Given the description of an element on the screen output the (x, y) to click on. 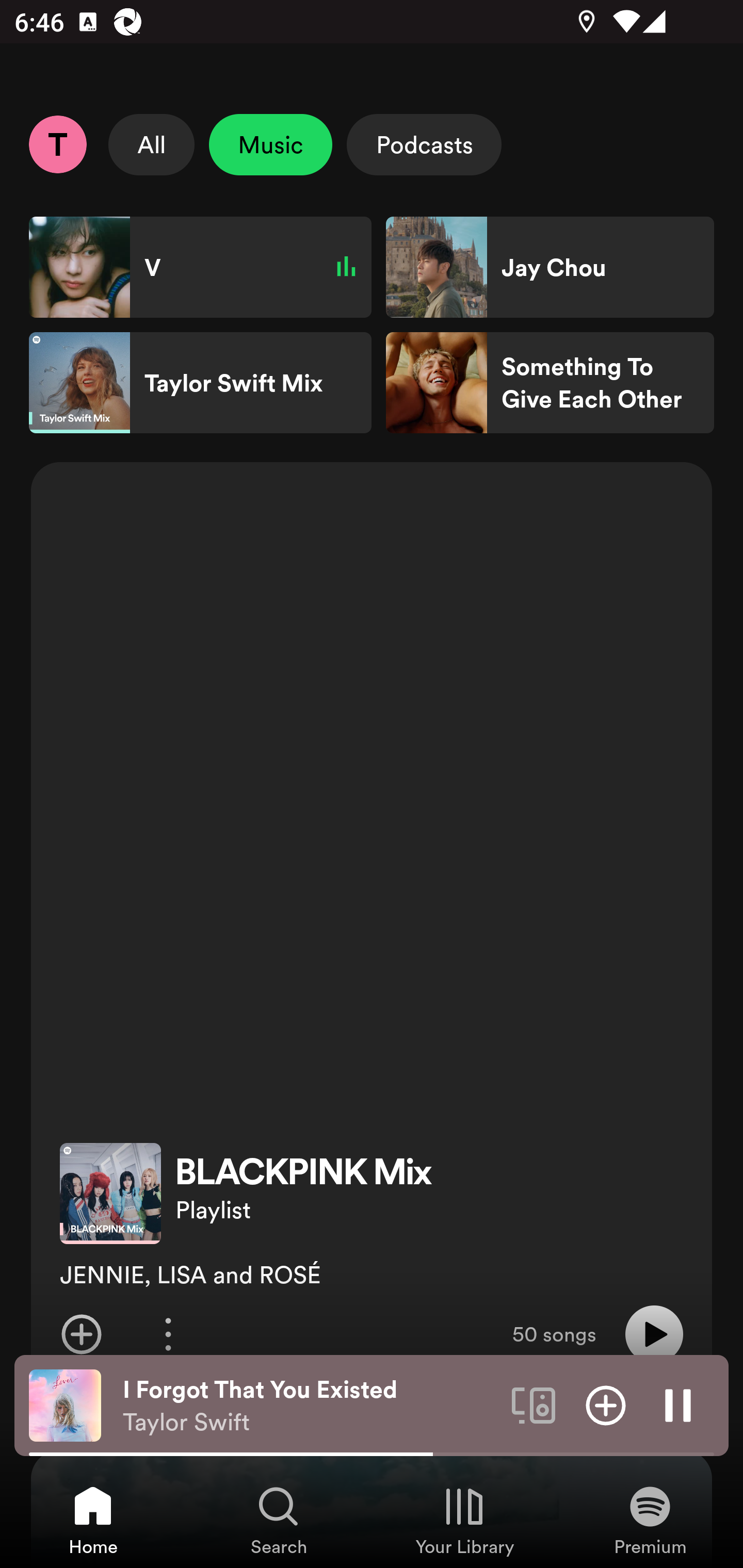
Profile (57, 144)
All Select All (151, 144)
Music Unselect Music (270, 144)
Podcasts Select Podcasts (423, 144)
V Shortcut V Playing (199, 267)
Jay Chou Shortcut Jay Chou (549, 267)
Taylor Swift Mix Shortcut Taylor Swift Mix (199, 382)
Add item (80, 1334)
Play (653, 1334)
I Forgot That You Existed Taylor Swift (309, 1405)
The cover art of the currently playing track (64, 1404)
Connect to a device. Opens the devices menu (533, 1404)
Add item (605, 1404)
Pause (677, 1404)
Home, Tab 1 of 4 Home Home (92, 1519)
Search, Tab 2 of 4 Search Search (278, 1519)
Your Library, Tab 3 of 4 Your Library Your Library (464, 1519)
Premium, Tab 4 of 4 Premium Premium (650, 1519)
